Given the description of an element on the screen output the (x, y) to click on. 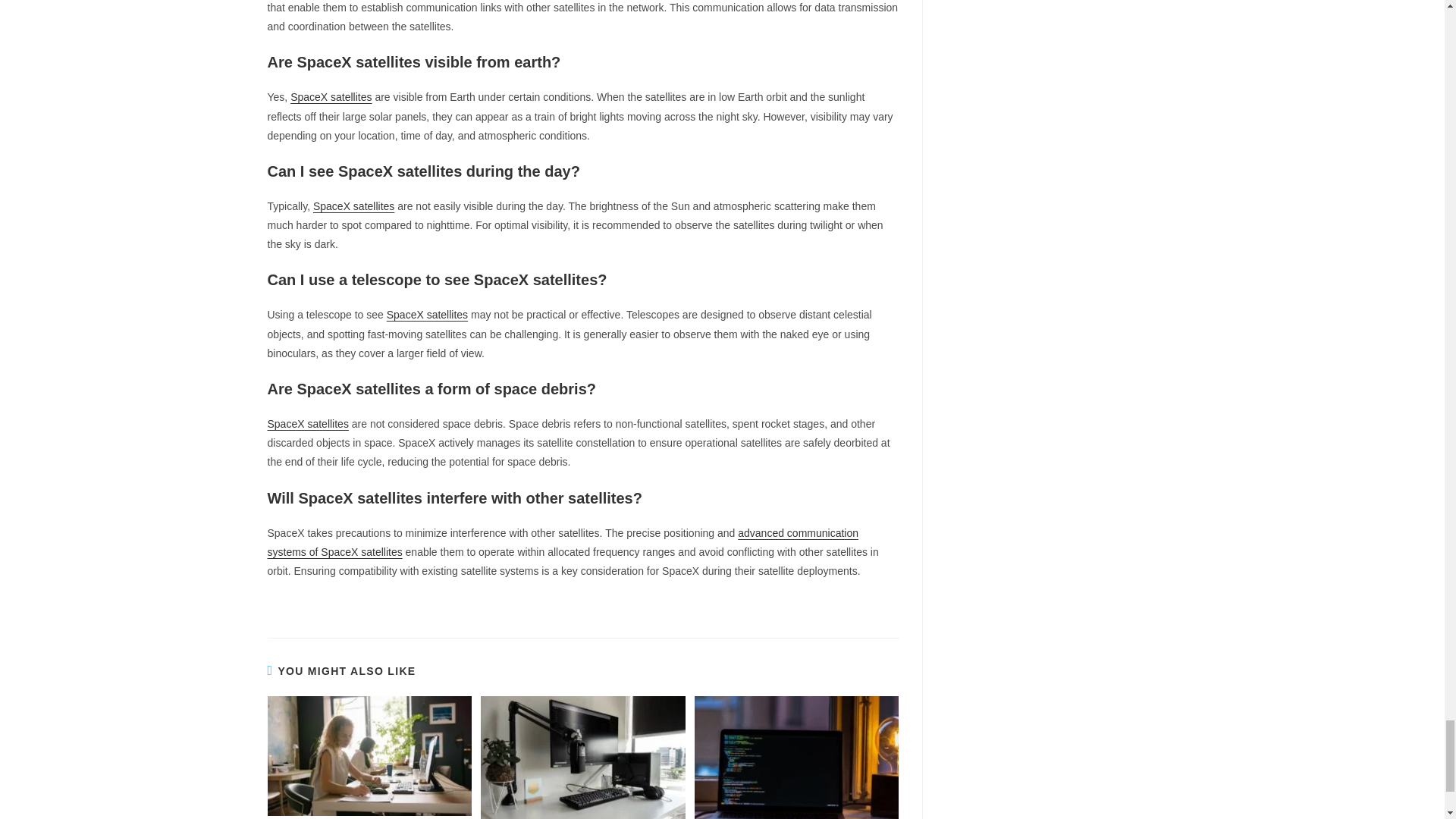
SpaceX satellites (306, 423)
SpaceX satellites (427, 314)
advanced communication systems of SpaceX satellites (562, 542)
SpaceX satellites (330, 96)
SpaceX satellites (353, 205)
